Given the description of an element on the screen output the (x, y) to click on. 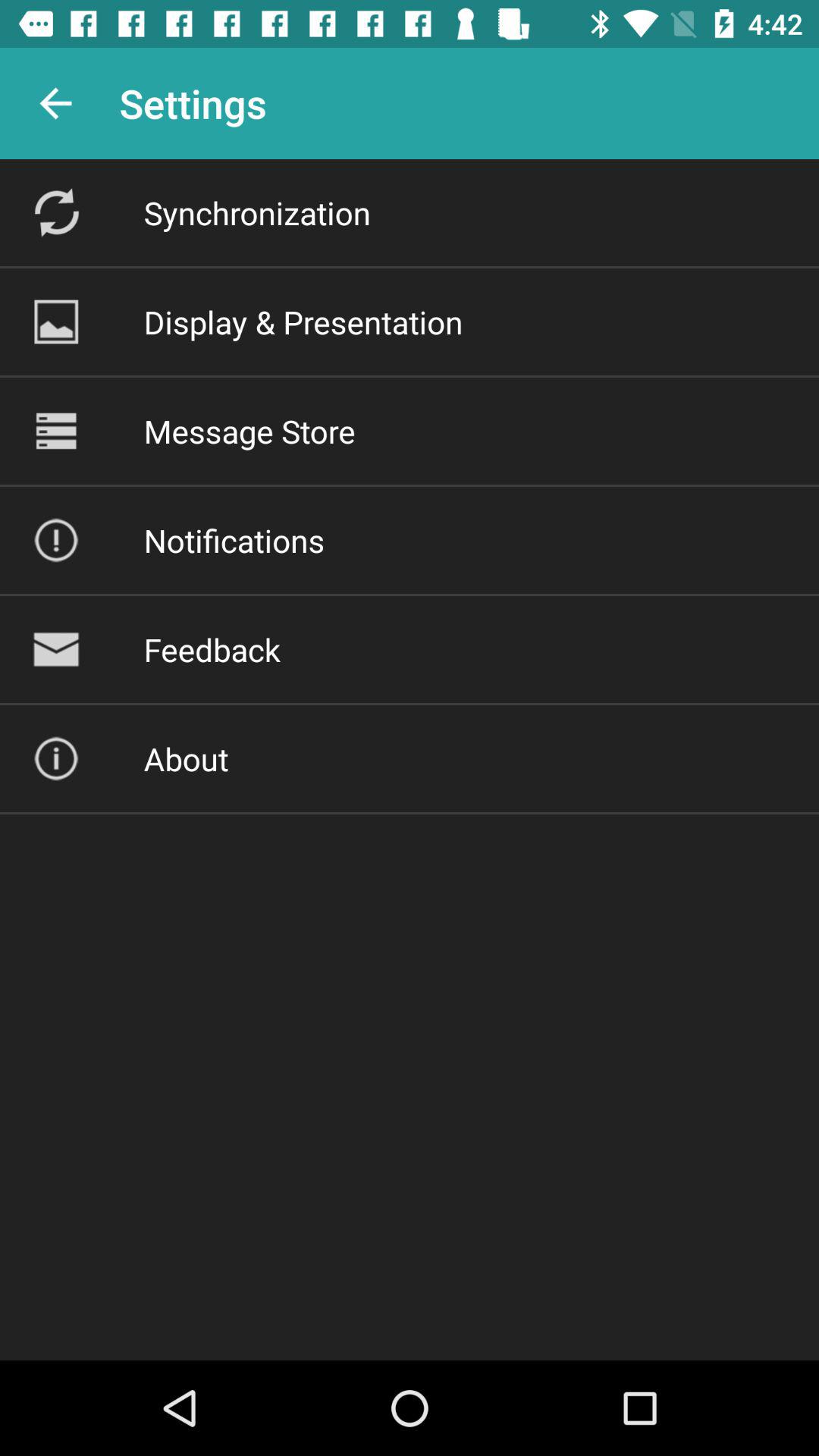
swipe until the display & presentation item (302, 321)
